Given the description of an element on the screen output the (x, y) to click on. 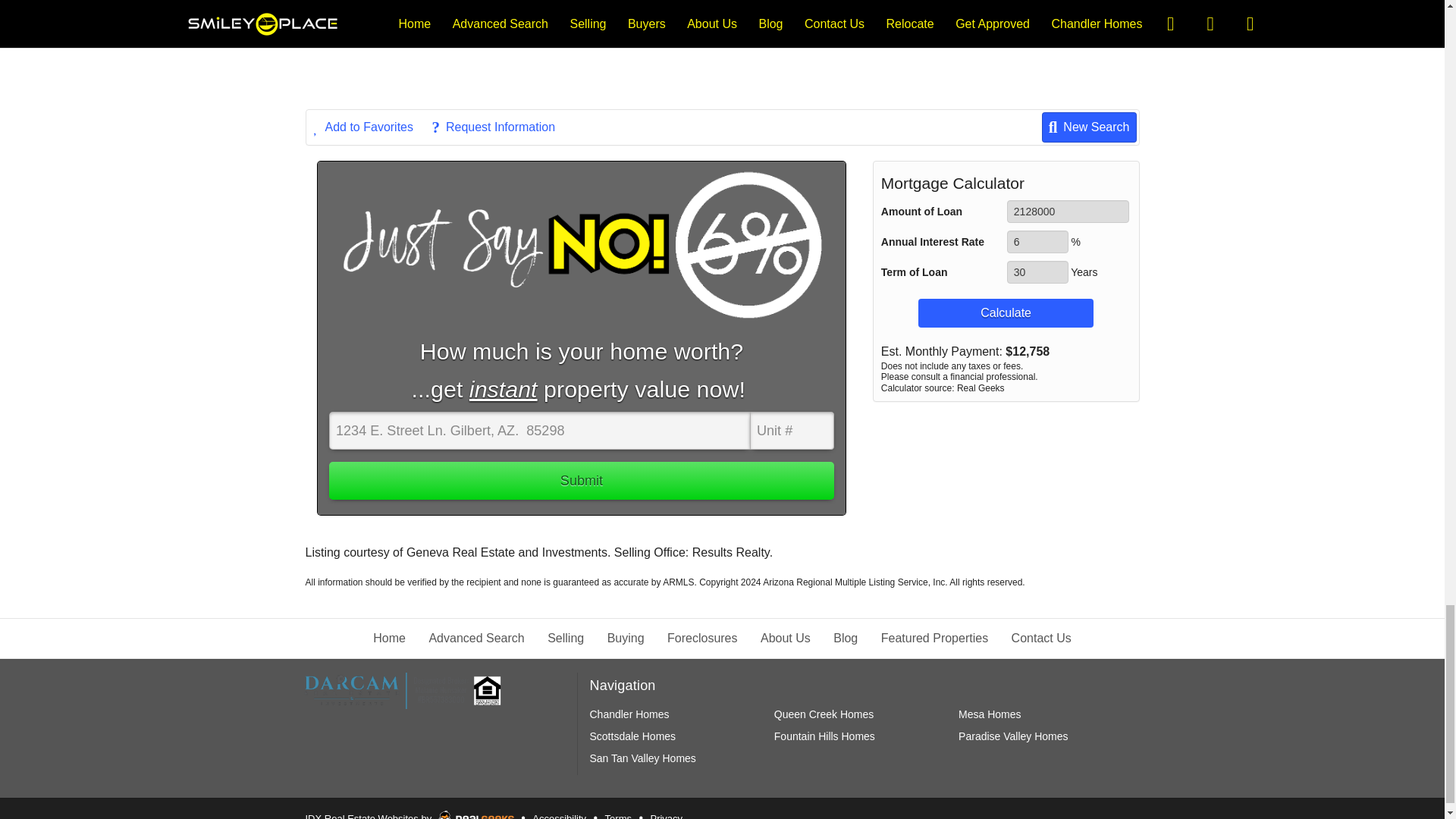
2128000 (1068, 210)
30 (1037, 272)
6 (1037, 241)
